Given the description of an element on the screen output the (x, y) to click on. 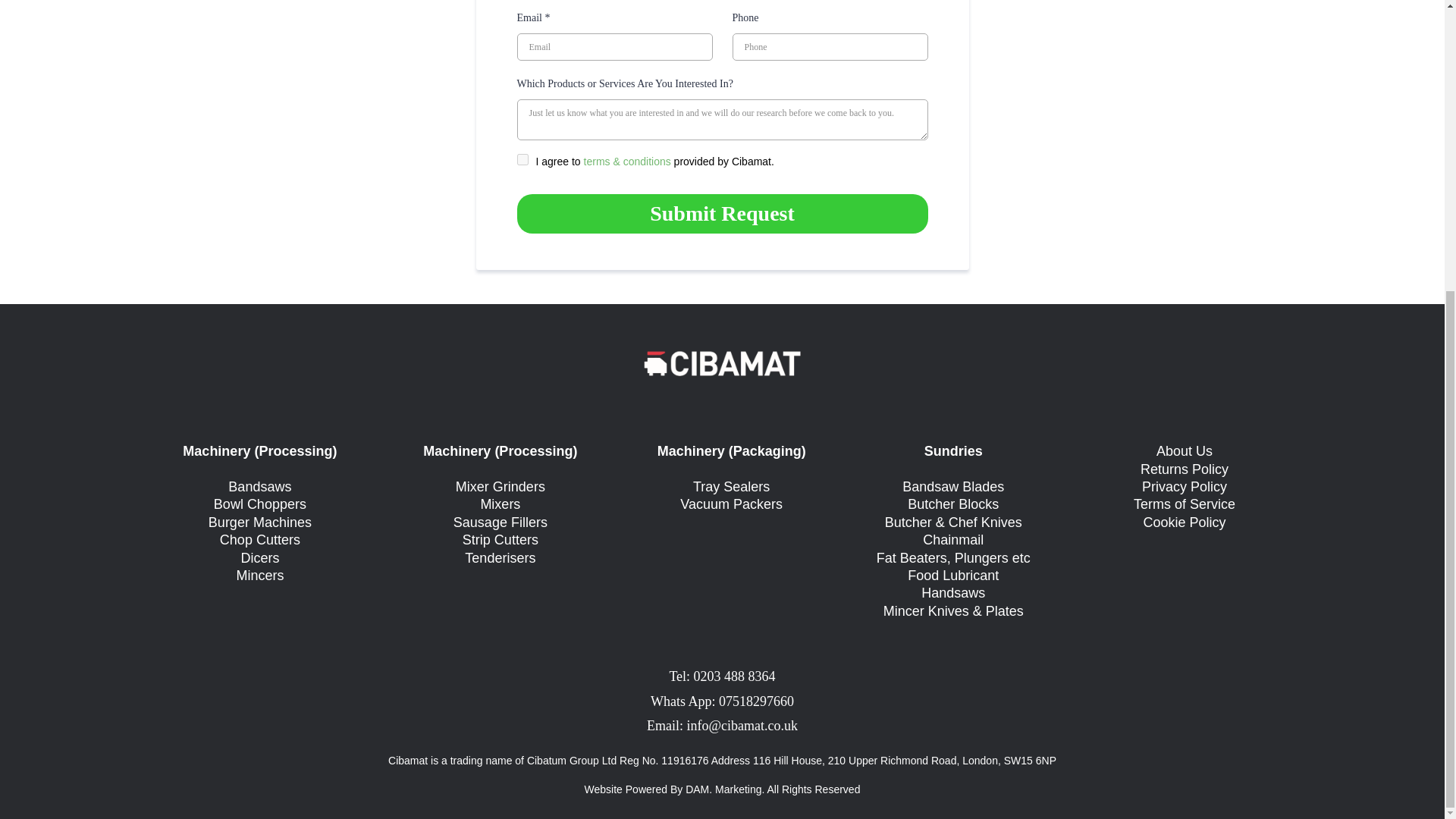
Chop Cutters (259, 539)
Submit Request (722, 213)
Dicers (259, 557)
Tenderisers (499, 557)
Bowl Choppers (259, 503)
Mixers (499, 503)
Burger Machines (259, 522)
Bandsaws (259, 486)
Mincers (259, 575)
Bandsaw Blades (953, 486)
